Given the description of an element on the screen output the (x, y) to click on. 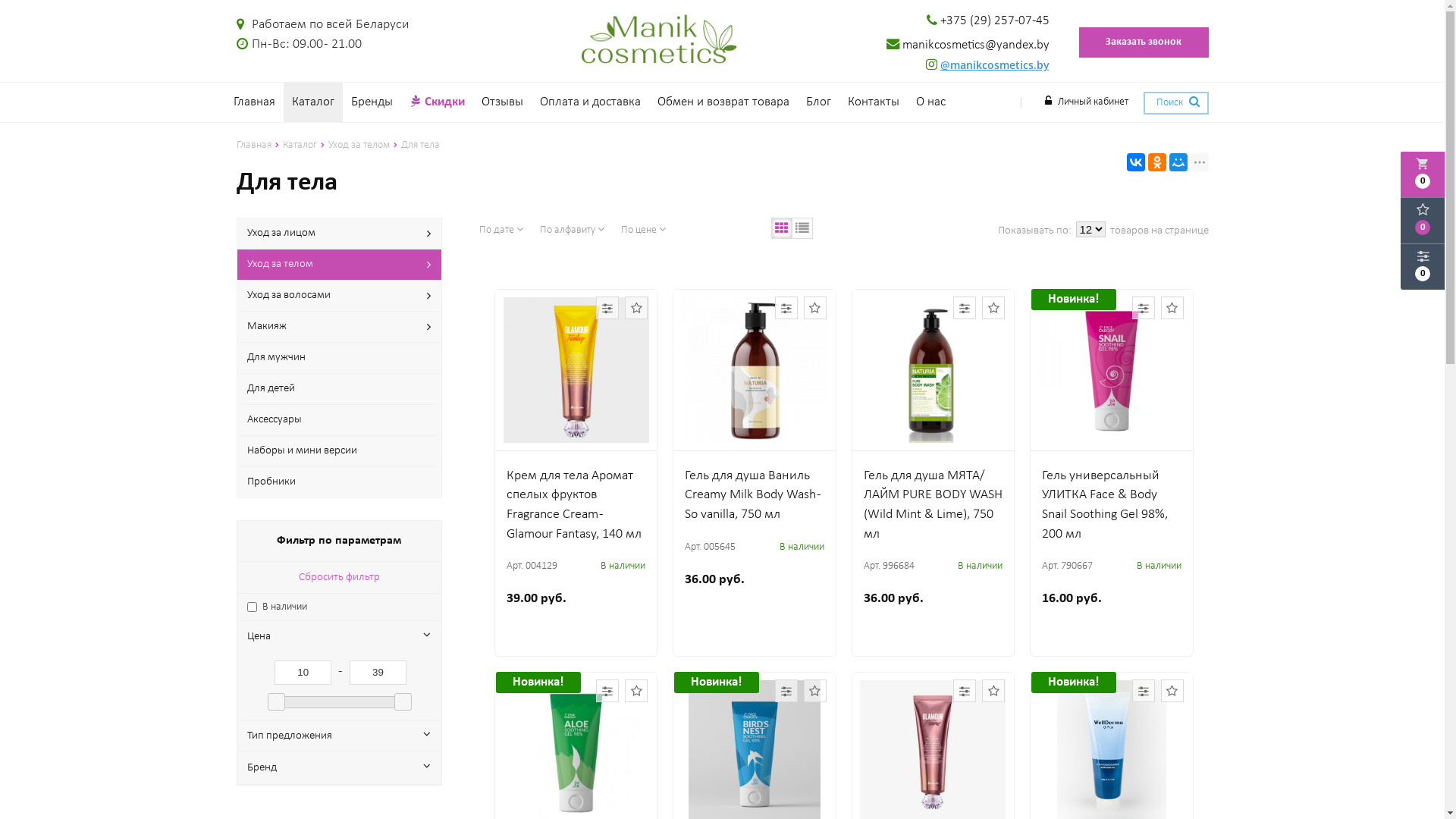
local_grocery_store
0 Element type: text (1422, 174)
manikcosmetics@yandex.by Element type: text (966, 45)
+375 (29) 257-07-45 Element type: text (987, 21)
0 Element type: text (1422, 266)
@manikcosmetics.by Element type: text (986, 65)
0 Element type: text (1422, 220)
